Given the description of an element on the screen output the (x, y) to click on. 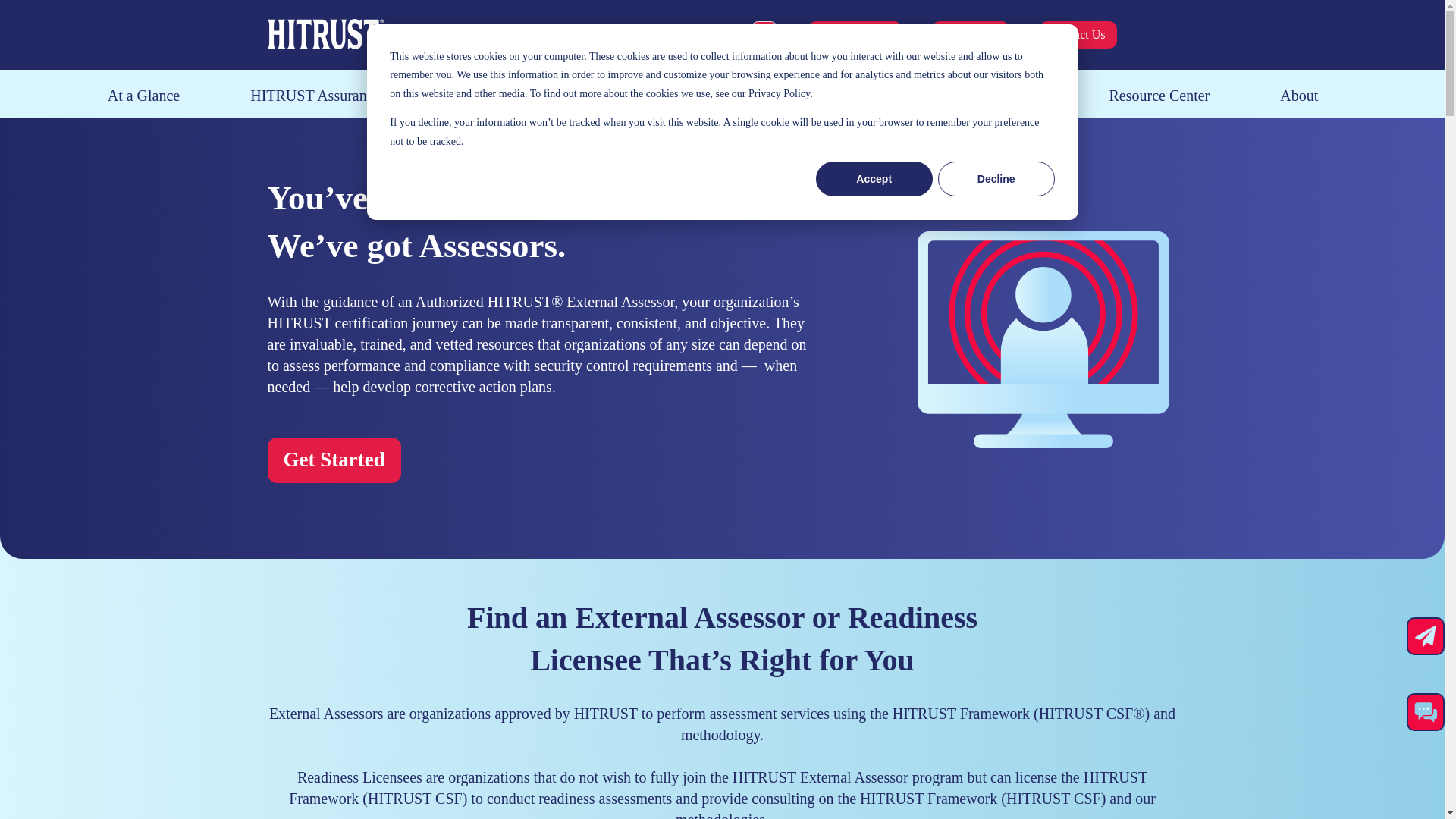
Get Started (970, 34)
Find an Assessor (572, 95)
At a Glance (143, 95)
About (1298, 95)
MyCSF Portal (854, 34)
News (827, 95)
Events and Training (976, 95)
Resource Center (1159, 95)
Contact Us (1077, 34)
AI Hub (717, 95)
Chat (1425, 712)
